Given the description of an element on the screen output the (x, y) to click on. 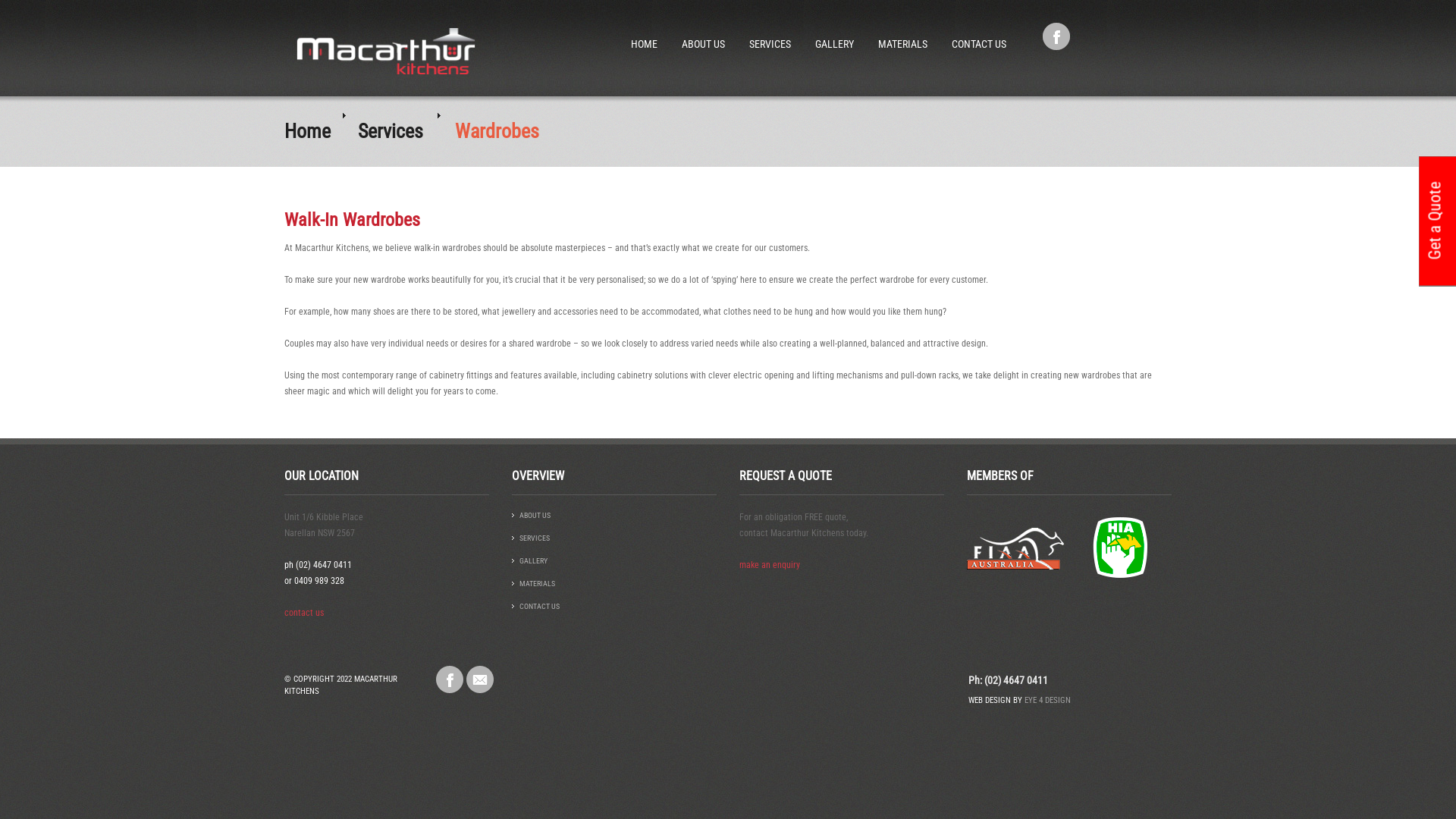
contact us Element type: text (303, 612)
GALLERY Element type: text (834, 28)
SERVICES Element type: text (534, 537)
GALLERY Element type: text (533, 560)
SERVICES Element type: text (770, 28)
HOME Element type: text (643, 28)
ABOUT US Element type: text (534, 515)
make an enquiry Element type: text (769, 564)
Home Element type: text (307, 130)
google Element type: hover (479, 679)
EYE 4 DESIGN Element type: text (1047, 700)
ABOUT US Element type: text (703, 28)
CONTACT US Element type: text (978, 28)
Services Element type: text (390, 130)
CONTACT US Element type: text (539, 606)
facebook Element type: hover (449, 679)
MATERIALS Element type: text (537, 583)
MATERIALS Element type: text (902, 28)
